Given the description of an element on the screen output the (x, y) to click on. 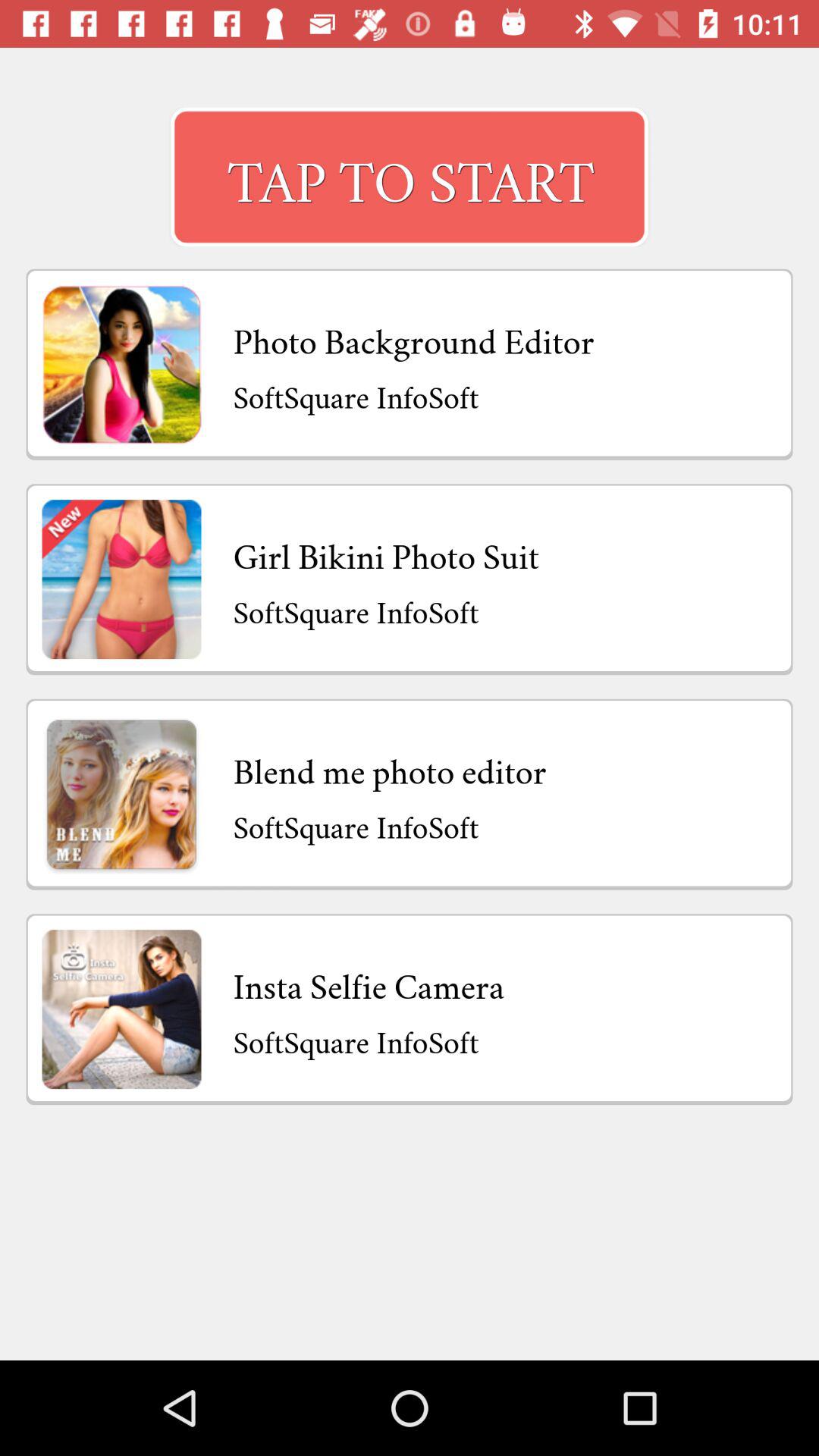
turn off app above softsquare infosoft (389, 767)
